Given the description of an element on the screen output the (x, y) to click on. 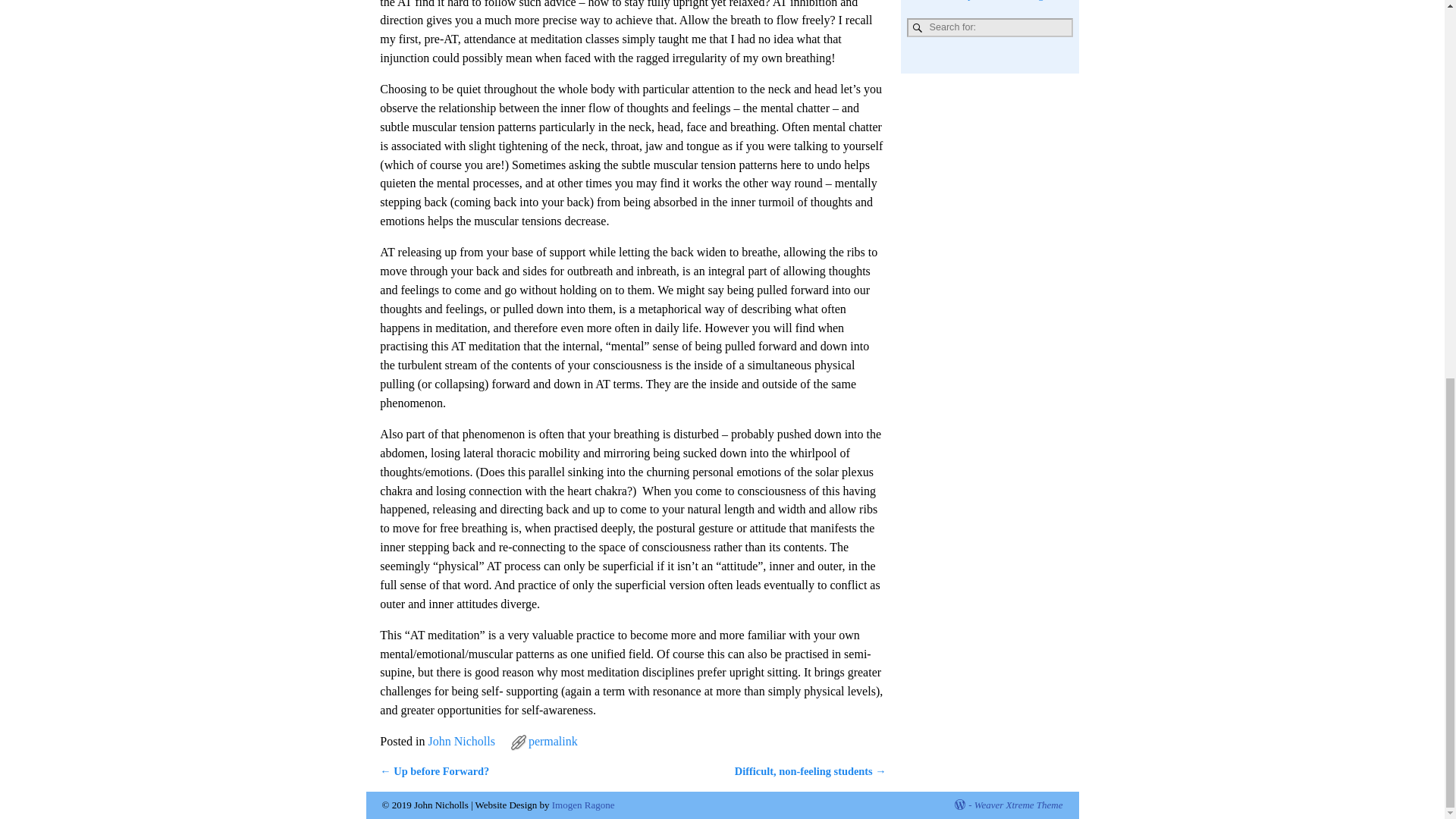
permalink (553, 740)
Weaver Xtreme Theme (1018, 804)
Proudly powered by WordPress (963, 804)
Permalink to AT and Meditation (553, 740)
- (963, 804)
John Nicholls (461, 740)
Imogen Ragone (582, 804)
